Given the description of an element on the screen output the (x, y) to click on. 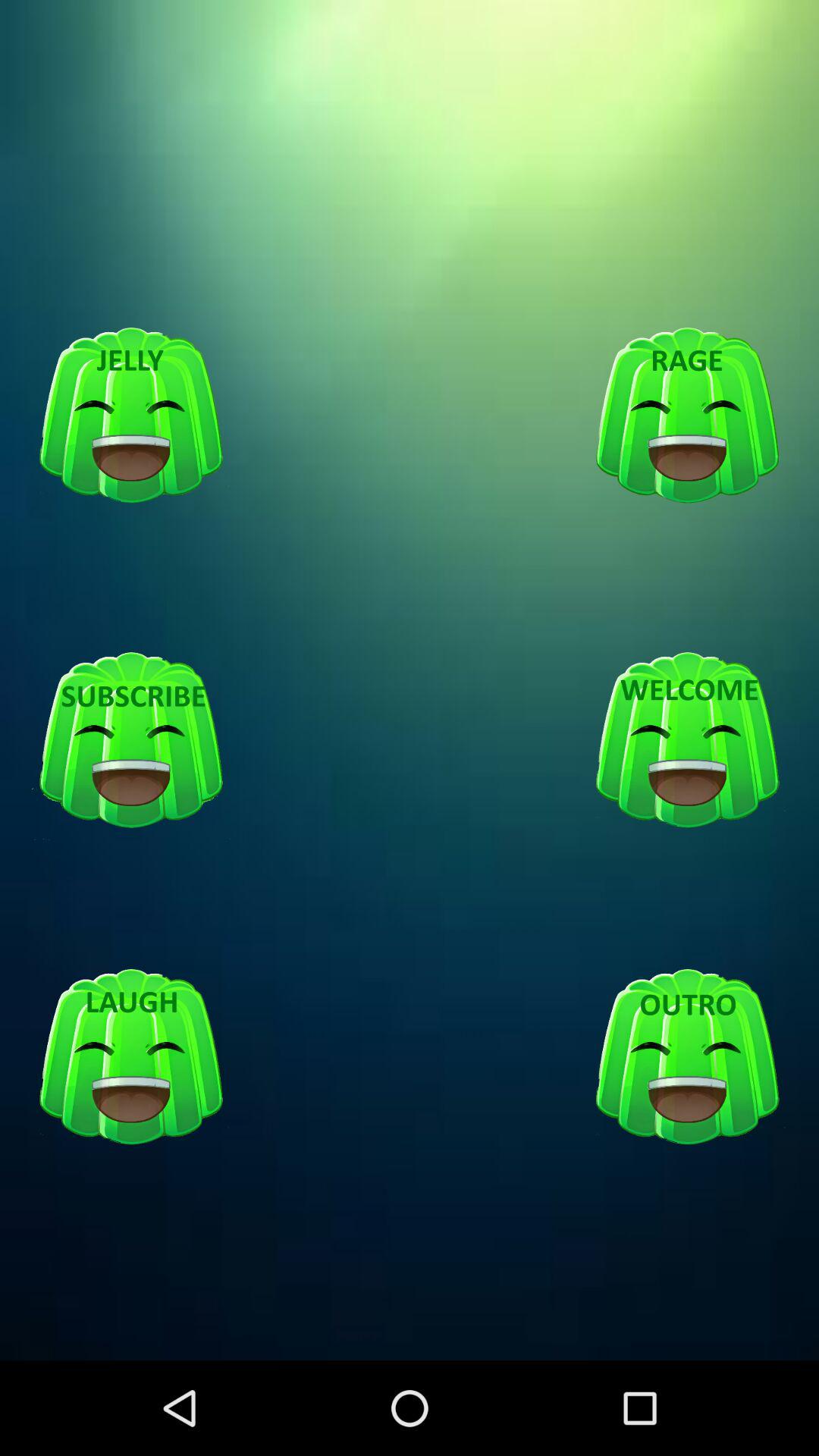
tap the icon at the bottom left corner (130, 1057)
